Given the description of an element on the screen output the (x, y) to click on. 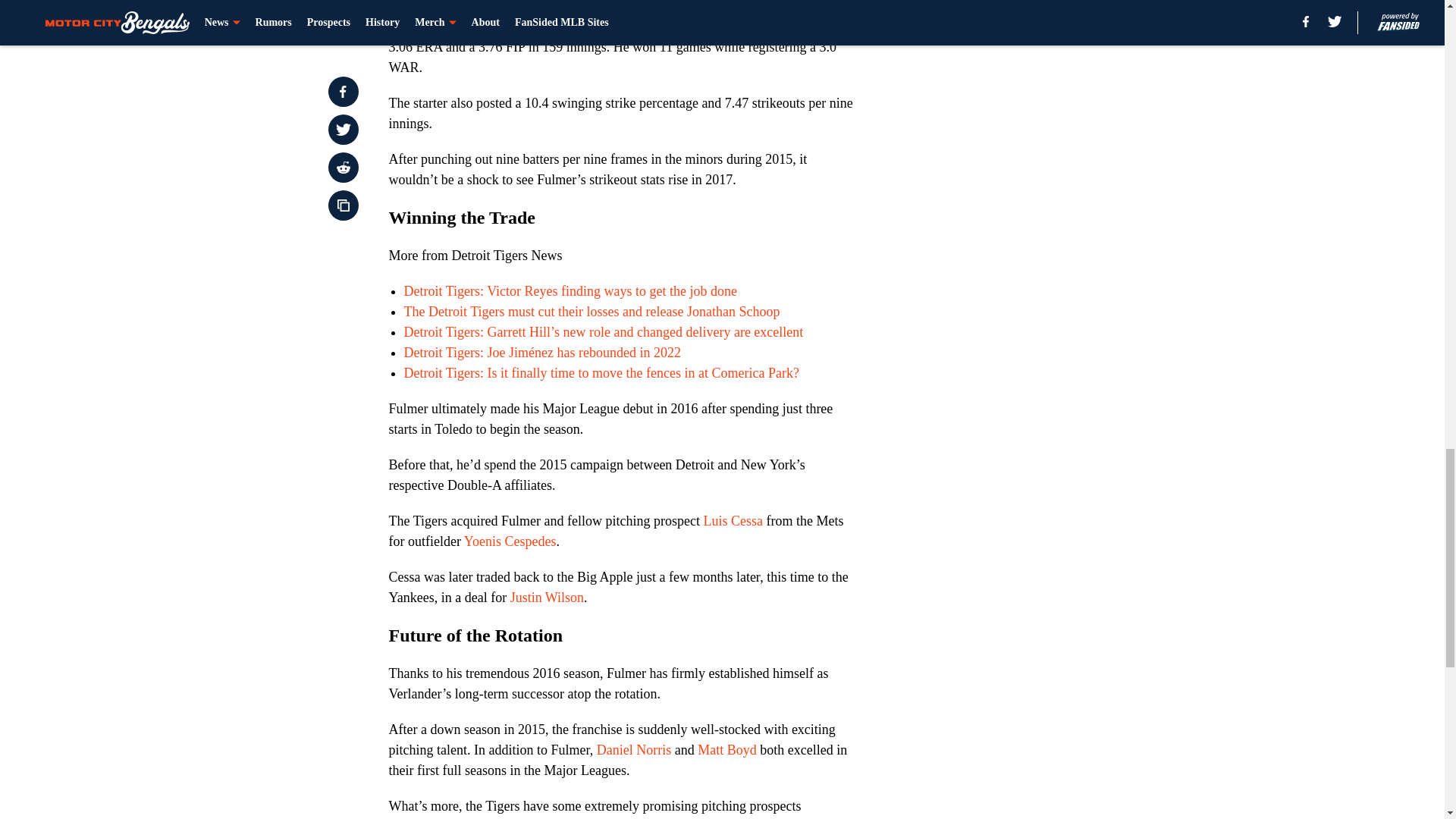
Yoenis Cespedes (510, 540)
Luis Cessa (732, 520)
Justin Wilson (547, 597)
Daniel Norris (633, 749)
